Given the description of an element on the screen output the (x, y) to click on. 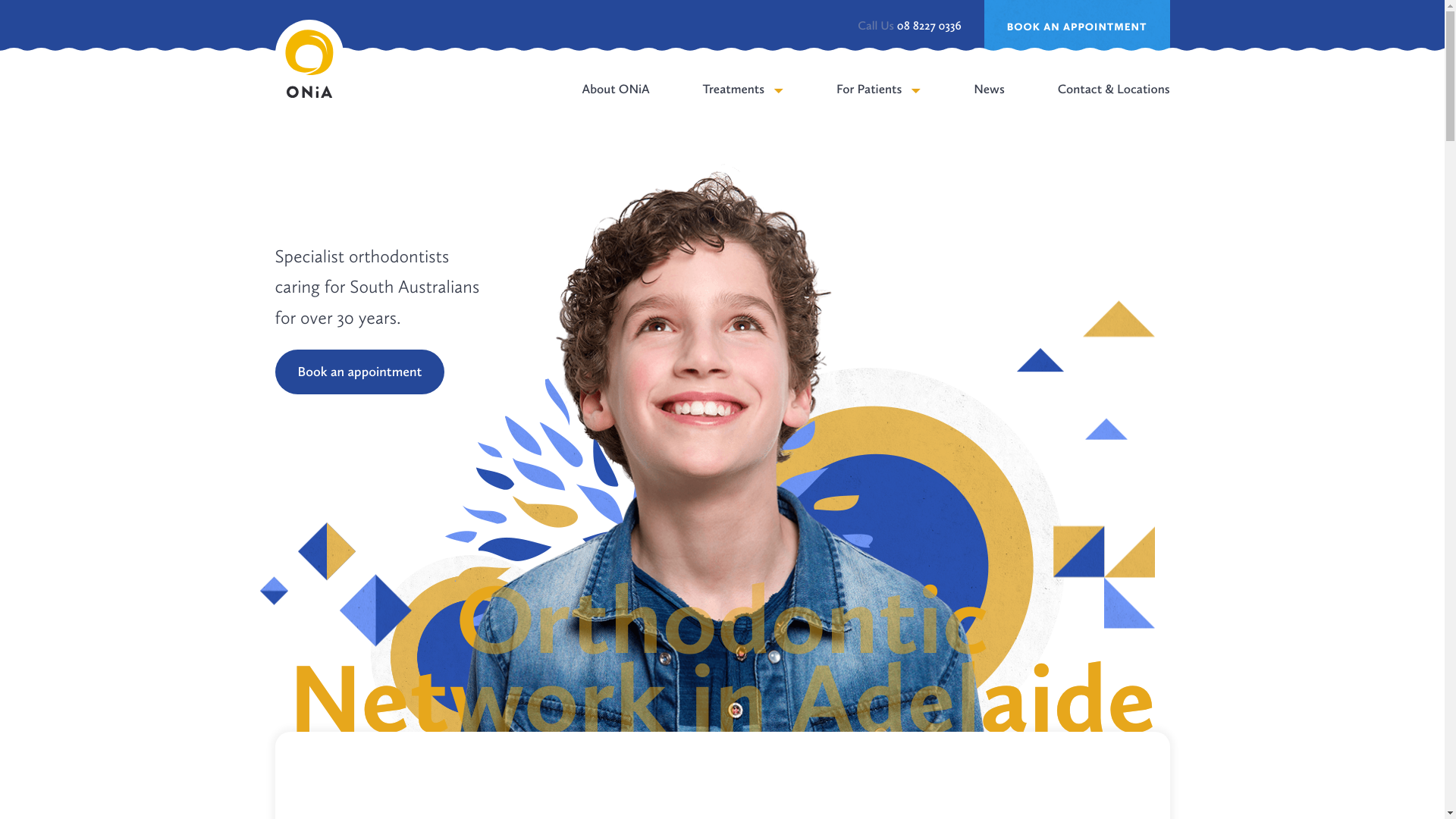
About ONiA Element type: text (615, 102)
Treatments Element type: text (742, 102)
For Patients Element type: text (878, 102)
Book an appointment Element type: text (359, 371)
News Element type: text (988, 102)
BOOK AN APPOINTMENT Element type: text (1077, 26)
Contact & Locations Element type: text (1113, 102)
Call Us 08 8227 0336 Element type: text (908, 26)
